Given the description of an element on the screen output the (x, y) to click on. 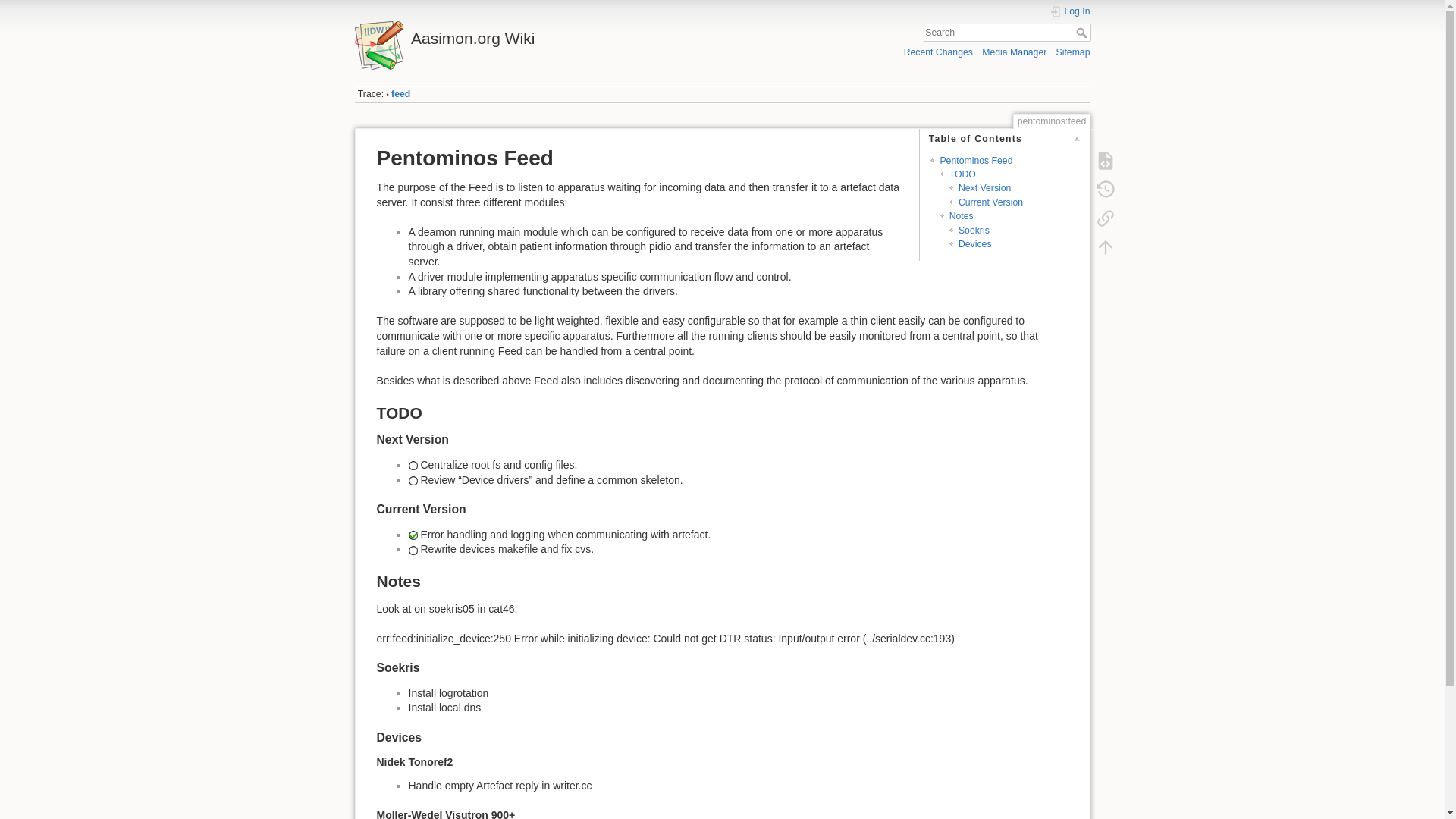
Aasimon.org Wiki (534, 34)
Search (1082, 32)
feed (400, 93)
pentominos:feed (400, 93)
Notes (961, 215)
Current Version (990, 202)
Media Manager (1013, 51)
Devices (974, 244)
Search (1082, 32)
Sitemap (1073, 51)
